Given the description of an element on the screen output the (x, y) to click on. 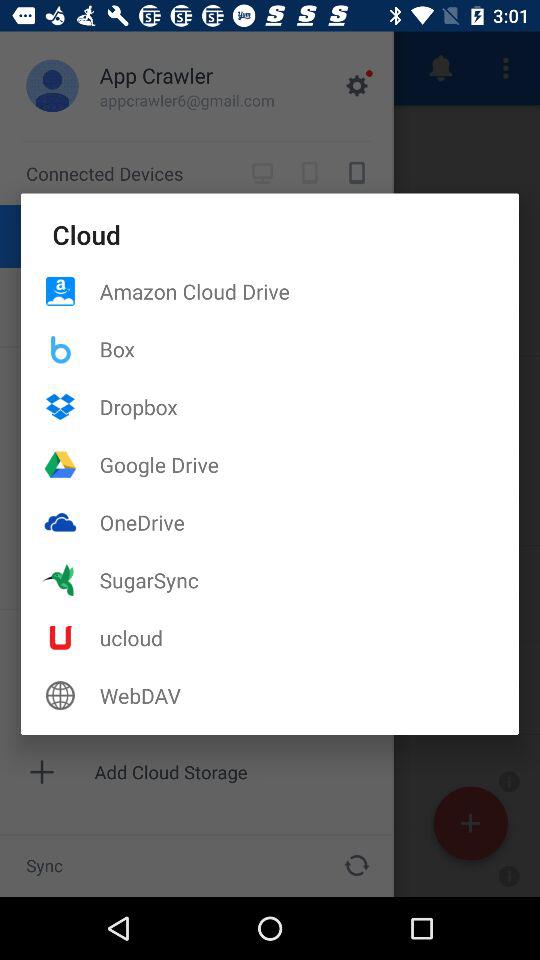
tap the item below the sugarsync (309, 637)
